Given the description of an element on the screen output the (x, y) to click on. 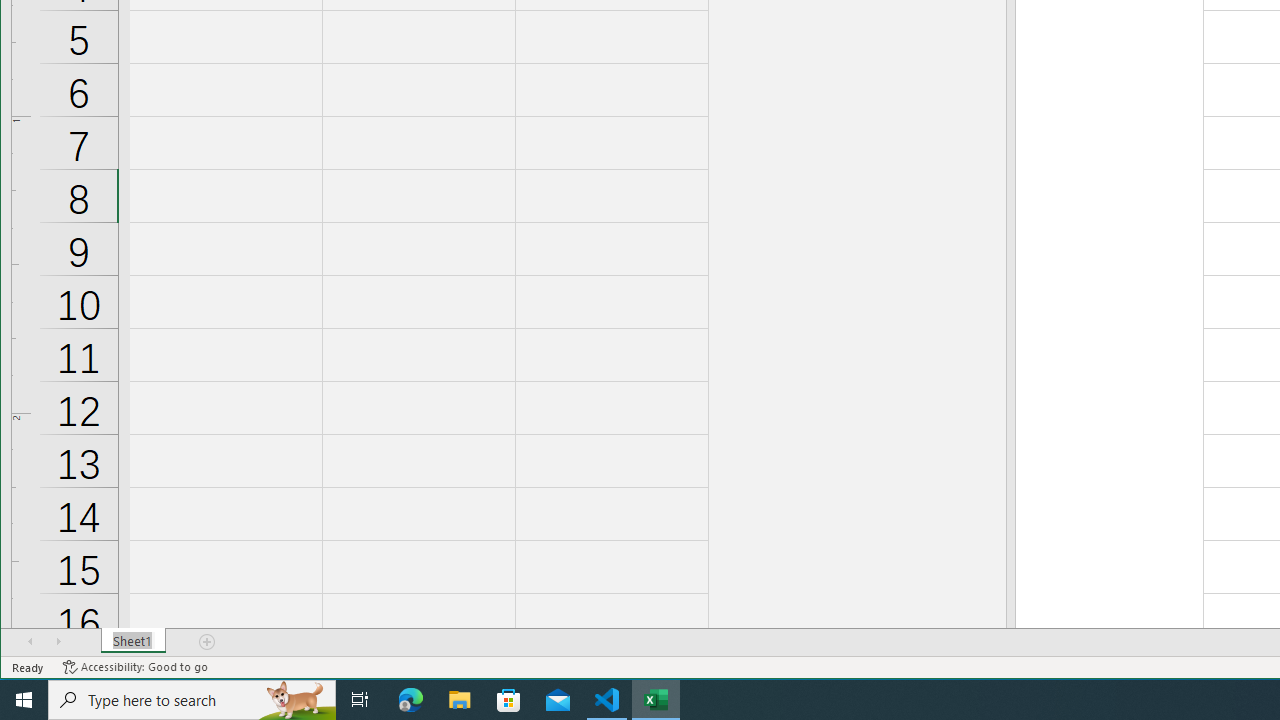
Microsoft Store (509, 699)
Microsoft Edge (411, 699)
Scroll Right (58, 641)
File Explorer (460, 699)
Start (24, 699)
Task View (359, 699)
Add Sheet (207, 641)
Type here to search (191, 699)
Sheet Tab (133, 641)
Excel - 1 running window (656, 699)
Scroll Left (30, 641)
Accessibility Checker Accessibility: Good to go (135, 667)
Search highlights icon opens search home window (295, 699)
Visual Studio Code - 1 running window (607, 699)
